Given the description of an element on the screen output the (x, y) to click on. 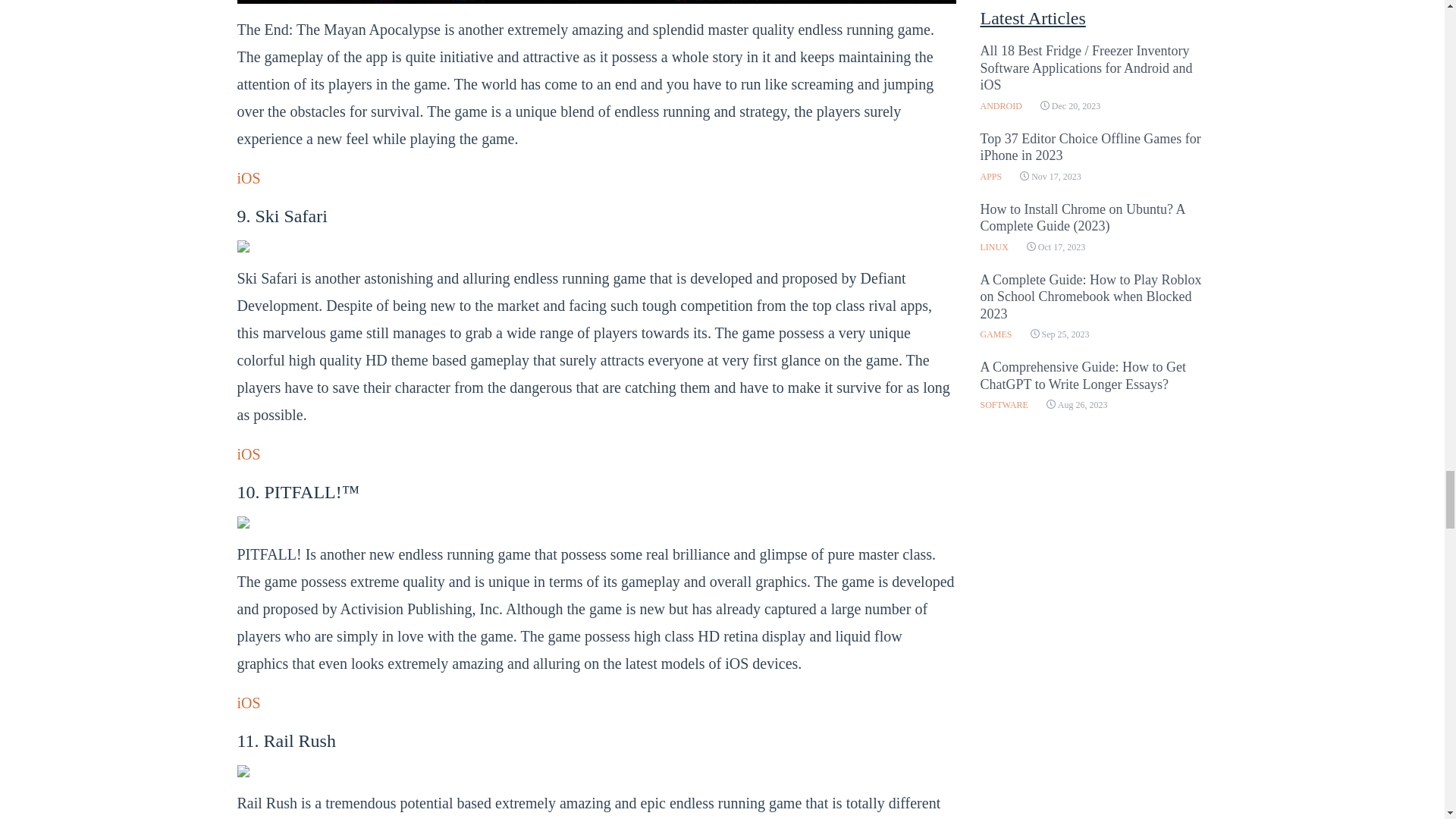
iOS (247, 702)
iOS (247, 453)
iOS (247, 177)
